Given the description of an element on the screen output the (x, y) to click on. 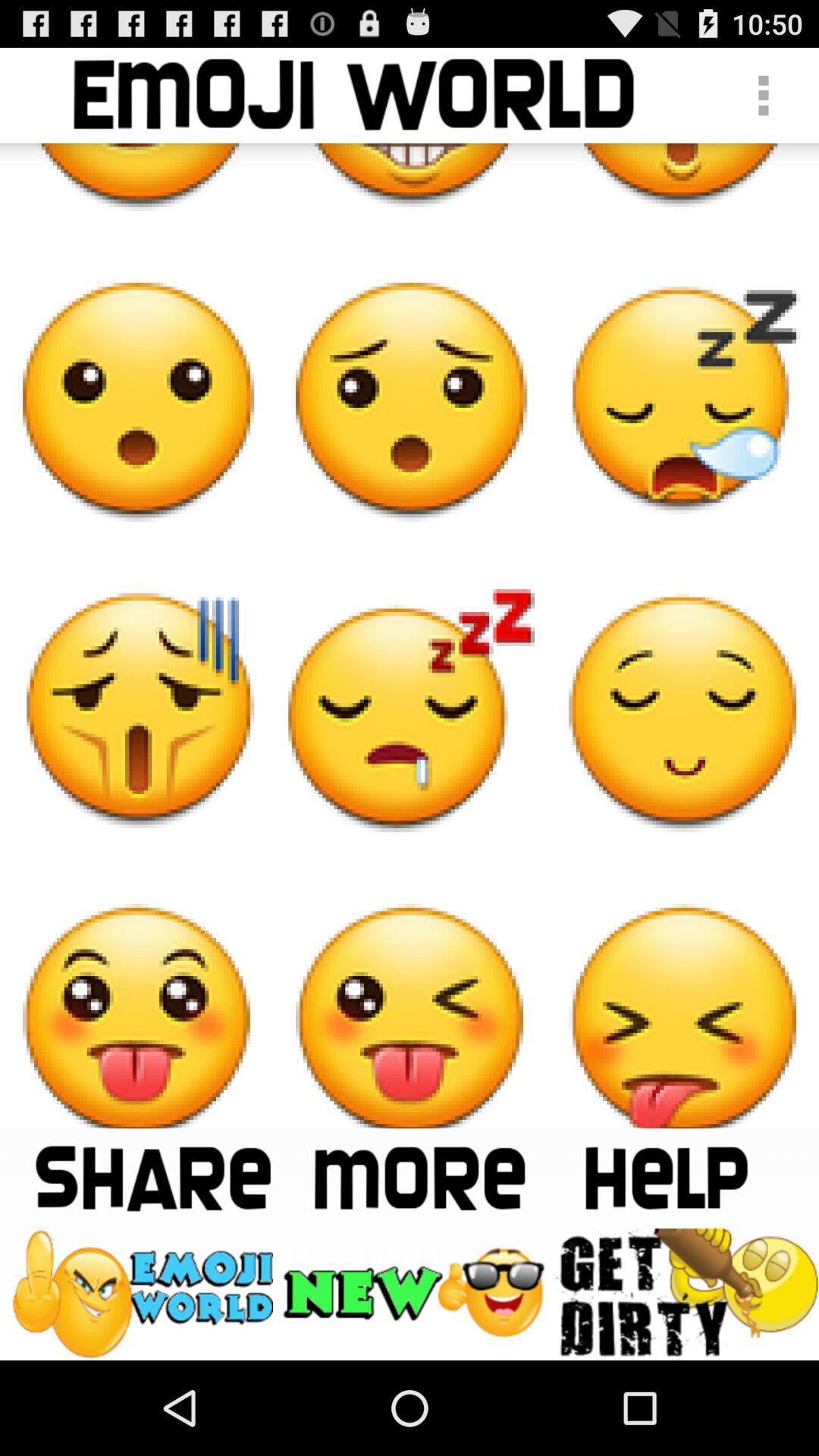
select the get dirty emoji (687, 1293)
